Given the description of an element on the screen output the (x, y) to click on. 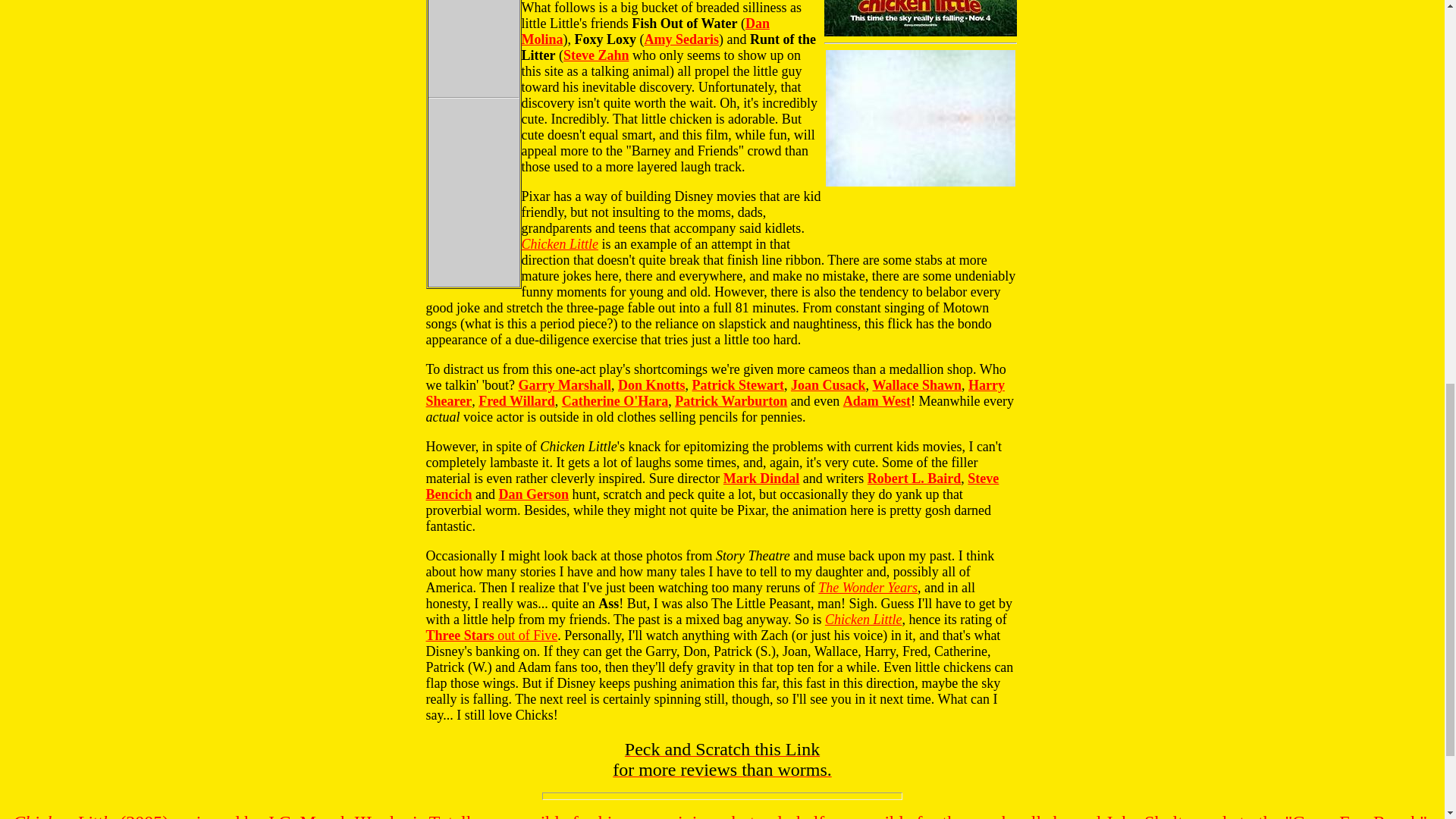
Dan Gerson (534, 494)
Adam West (877, 400)
Steve Bencich (712, 486)
Amy Sedaris (682, 38)
Advertisement (919, 144)
Patrick Warburton (731, 400)
Joan Cusack (828, 385)
Mark Dindal (761, 478)
Three Stars out of Five (491, 635)
Catherine O'Hara (615, 400)
Don Knotts (651, 385)
Chicken Little (559, 243)
Chicken Little (863, 619)
Patrick Stewart (737, 385)
Wallace Shawn (916, 385)
